Given the description of an element on the screen output the (x, y) to click on. 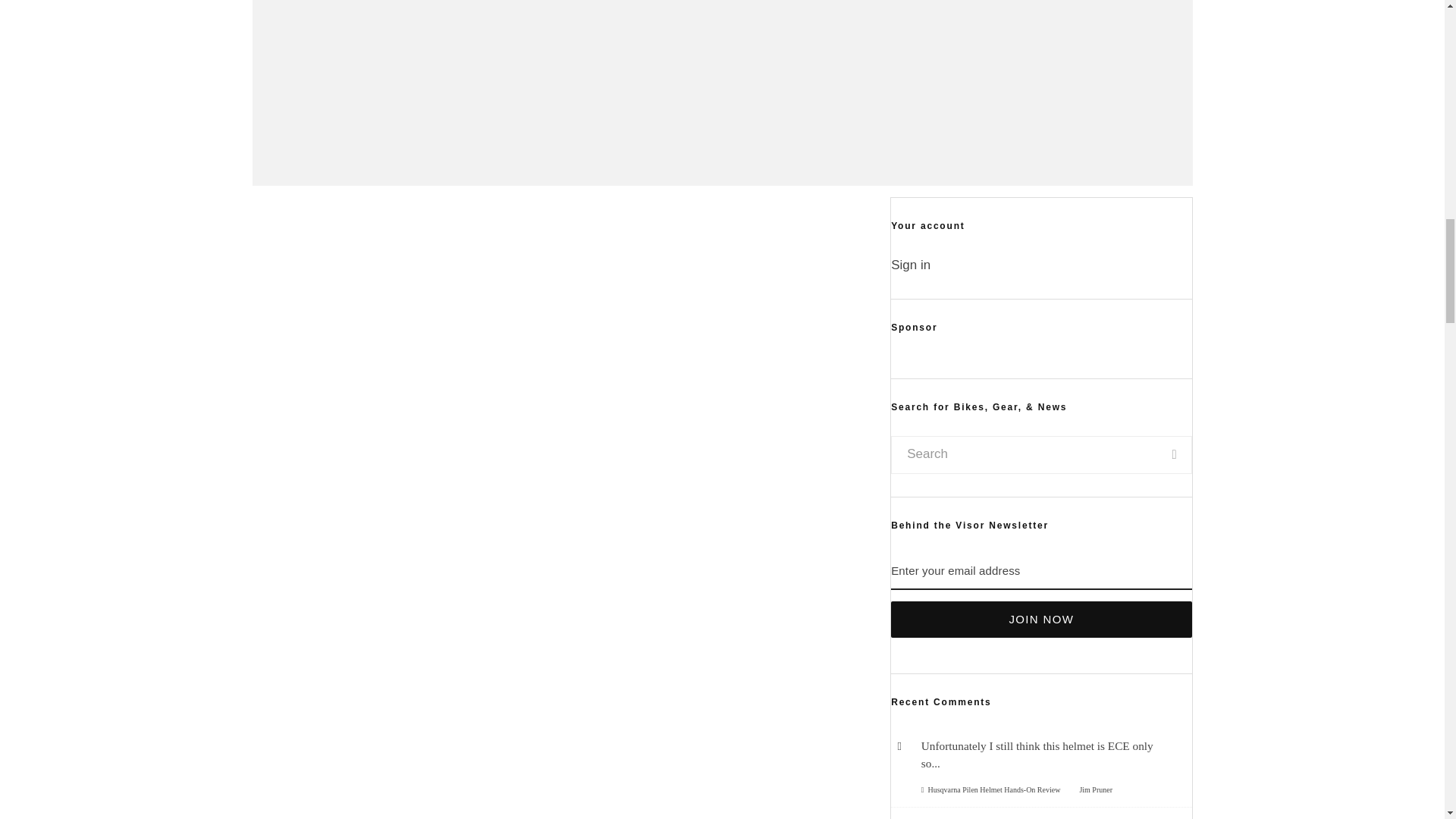
Join Now (1041, 619)
